Given the description of an element on the screen output the (x, y) to click on. 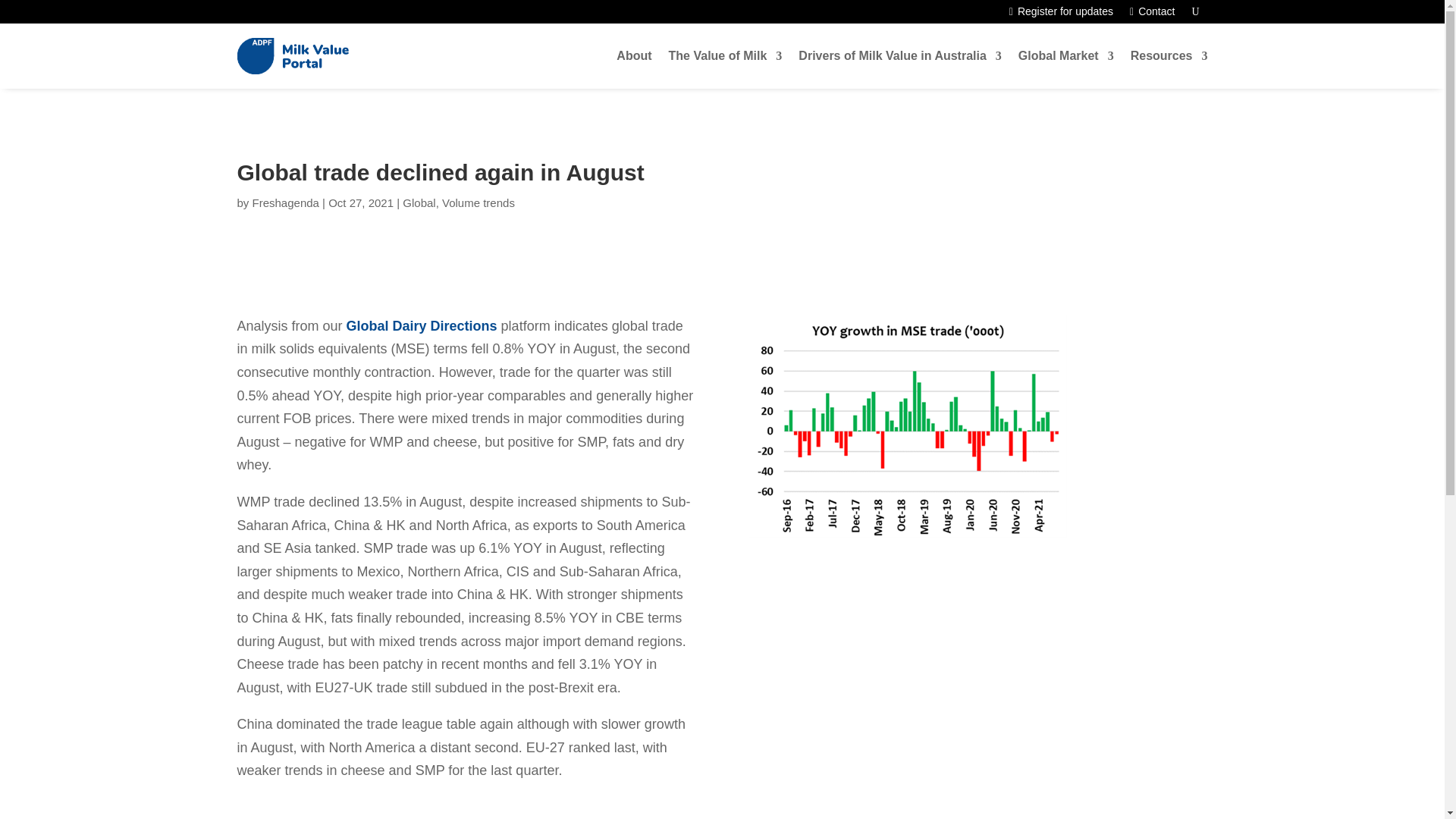
Register for updates (1061, 14)
MSE trade 27 OCt21 (908, 425)
Drivers of Milk Value in Australia (899, 56)
The Value of Milk (725, 56)
Posts by Freshagenda (284, 202)
Global Market (1065, 56)
Resources (1169, 56)
Contact (1151, 14)
